Given the description of an element on the screen output the (x, y) to click on. 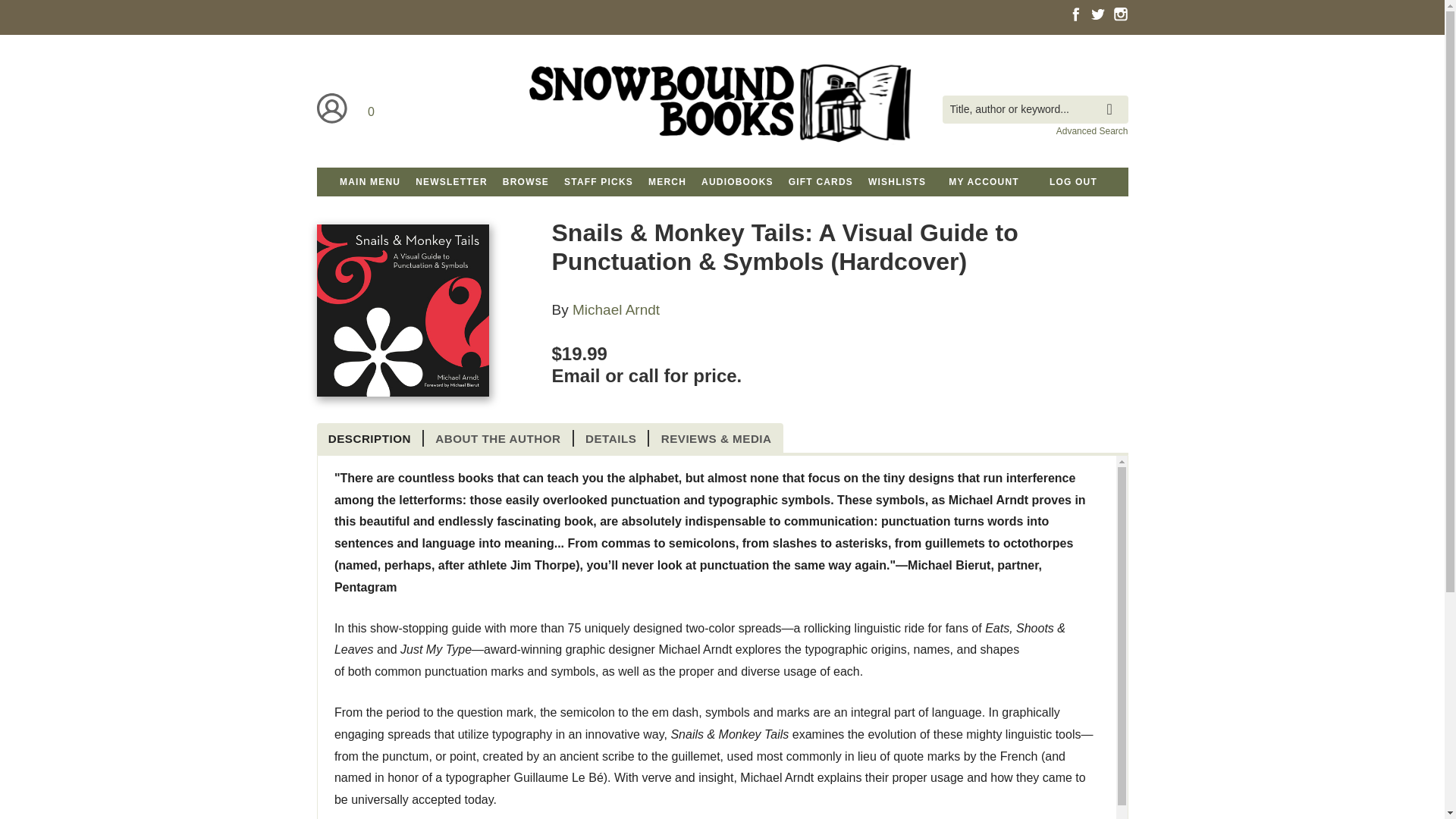
NEWSLETTER (451, 181)
Title, author or keyword... (1034, 109)
search (1112, 97)
STAFF PICKS (598, 181)
BROWSE (525, 181)
search (1112, 97)
MERCH (667, 181)
Home (721, 109)
Curated Lists by SB Staff (525, 181)
